Given the description of an element on the screen output the (x, y) to click on. 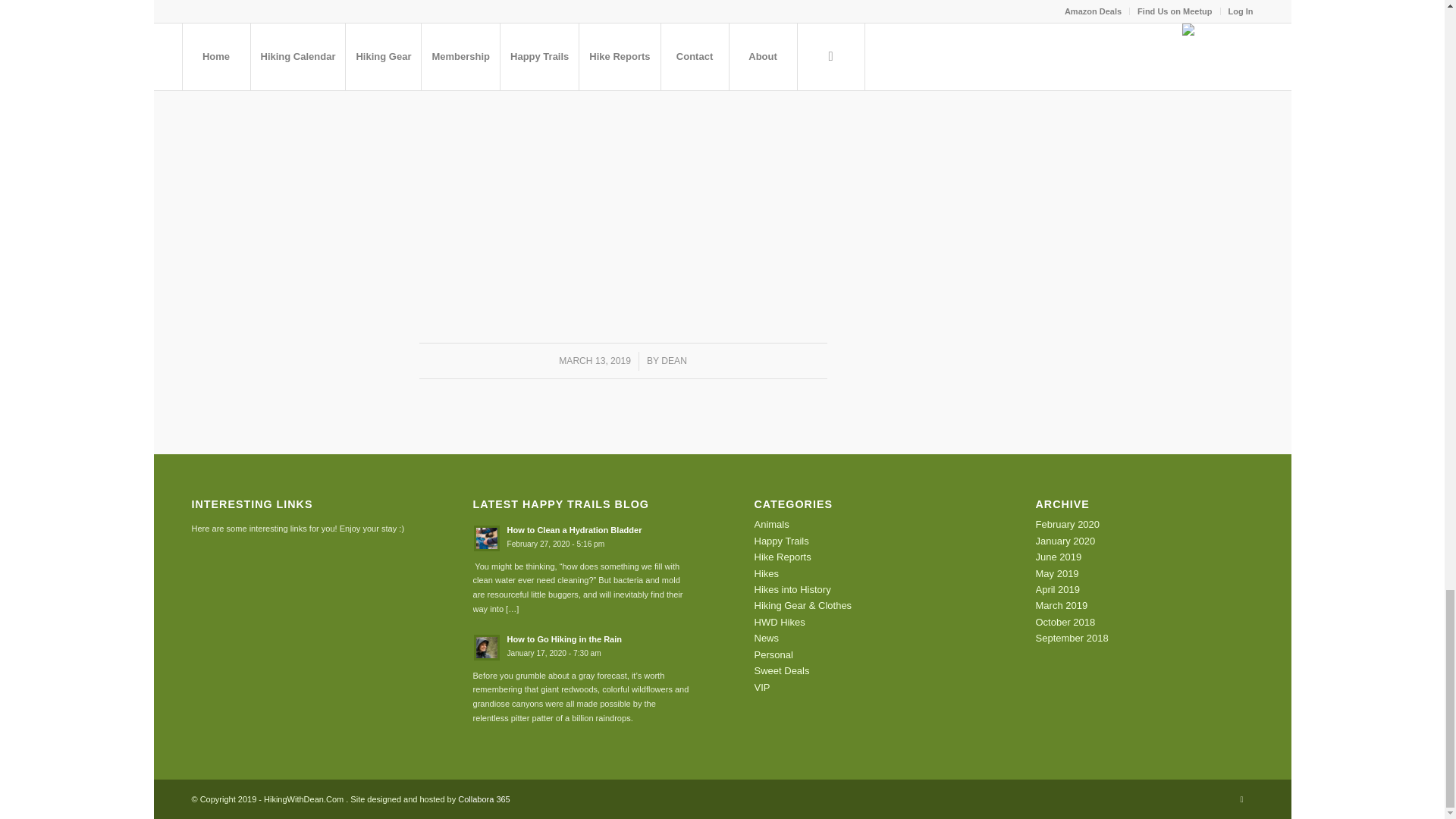
Posts by dean (674, 360)
How to Go Hiking in the Rain (581, 645)
How to Clean a Hydration Bladder (581, 536)
